Given the description of an element on the screen output the (x, y) to click on. 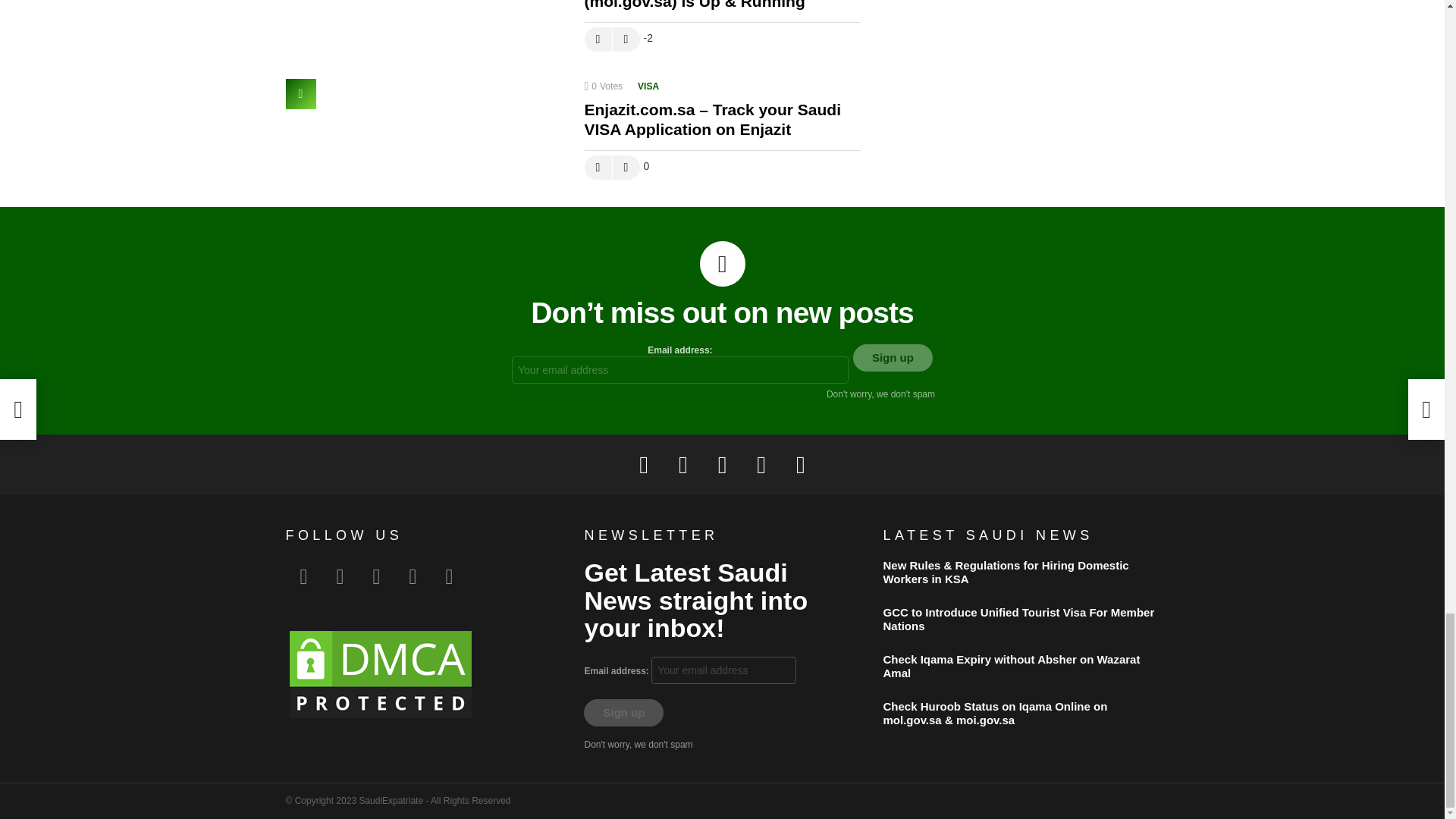
Sign up (893, 357)
Sign up (623, 712)
